Given the description of an element on the screen output the (x, y) to click on. 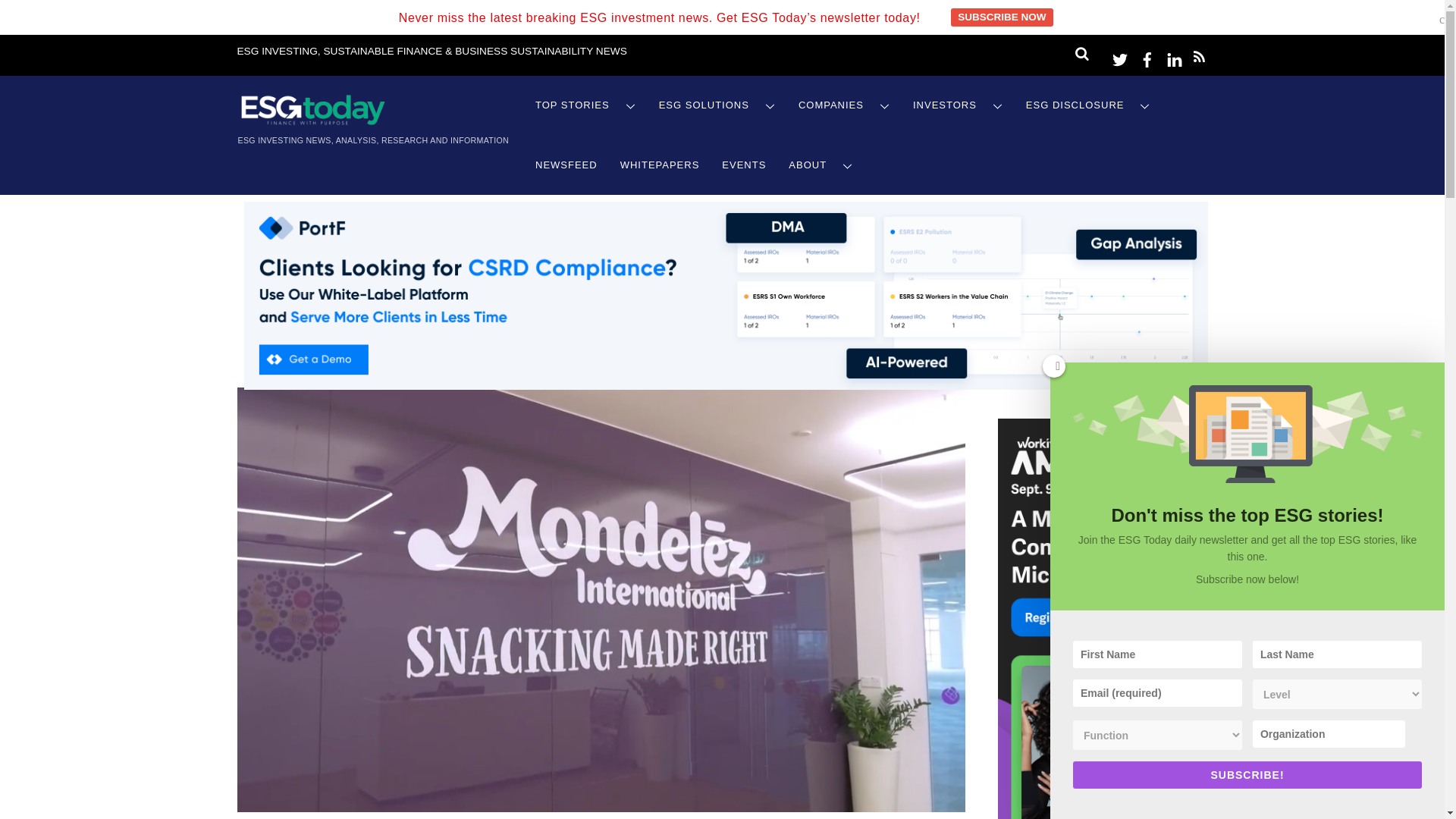
SUBSCRIBE NOW (1001, 17)
ESG DISCLOSURE (1087, 105)
ESG Today (311, 121)
COMPANIES (844, 105)
EVENTS (743, 165)
ESG SOLUTIONS (717, 105)
WHITEPAPERS (659, 165)
ABOUT (820, 165)
NEWSFEED (566, 165)
TOP STORIES (585, 105)
INVESTORS (957, 105)
